Given the description of an element on the screen output the (x, y) to click on. 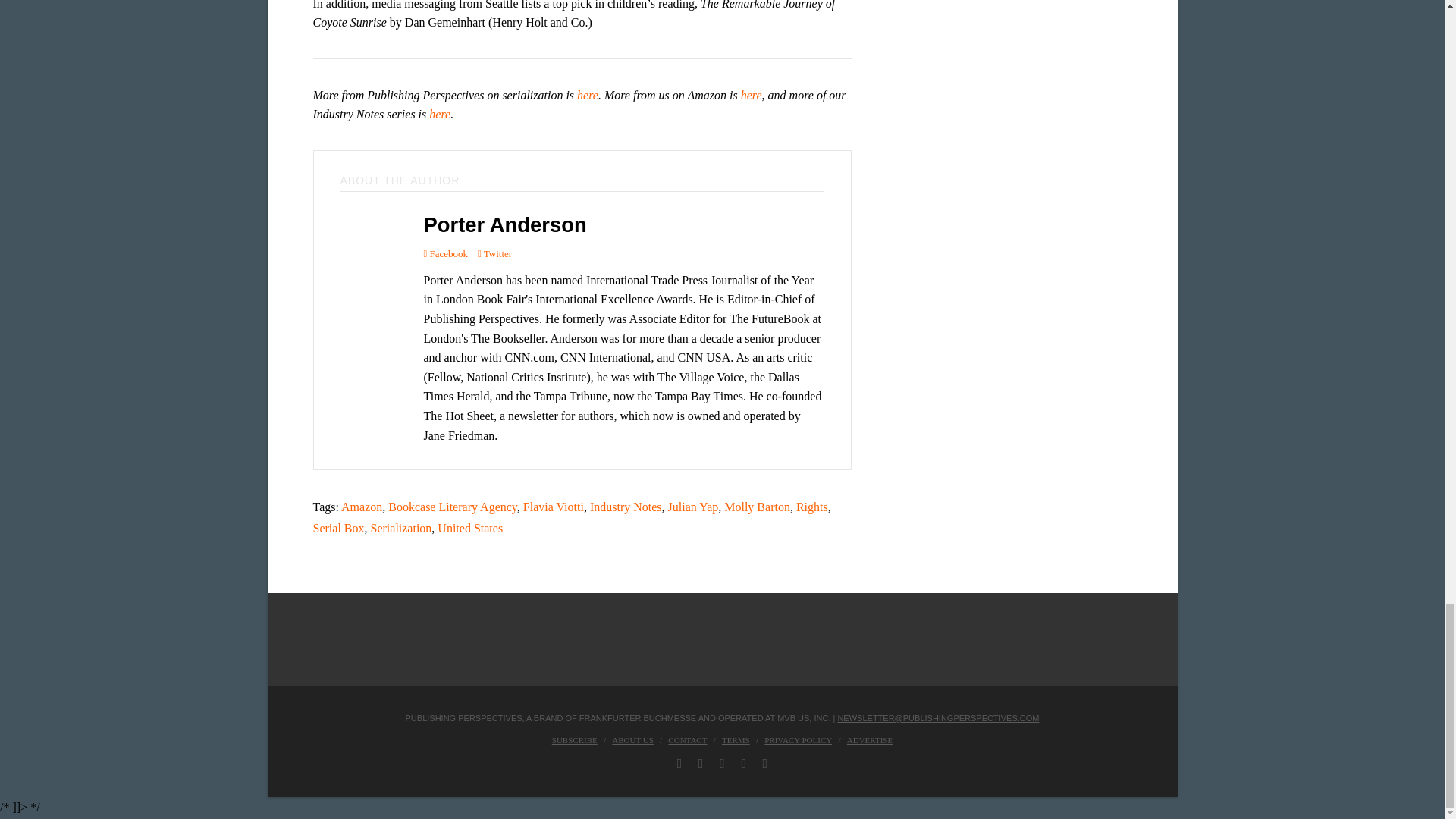
Terms and Conditions (735, 739)
Visit the Twitter Profile for Porter Anderson (494, 253)
Subscribe to Publishing Perspectives (573, 739)
Visit the Facebook Profile for Porter Anderson (445, 253)
